Given the description of an element on the screen output the (x, y) to click on. 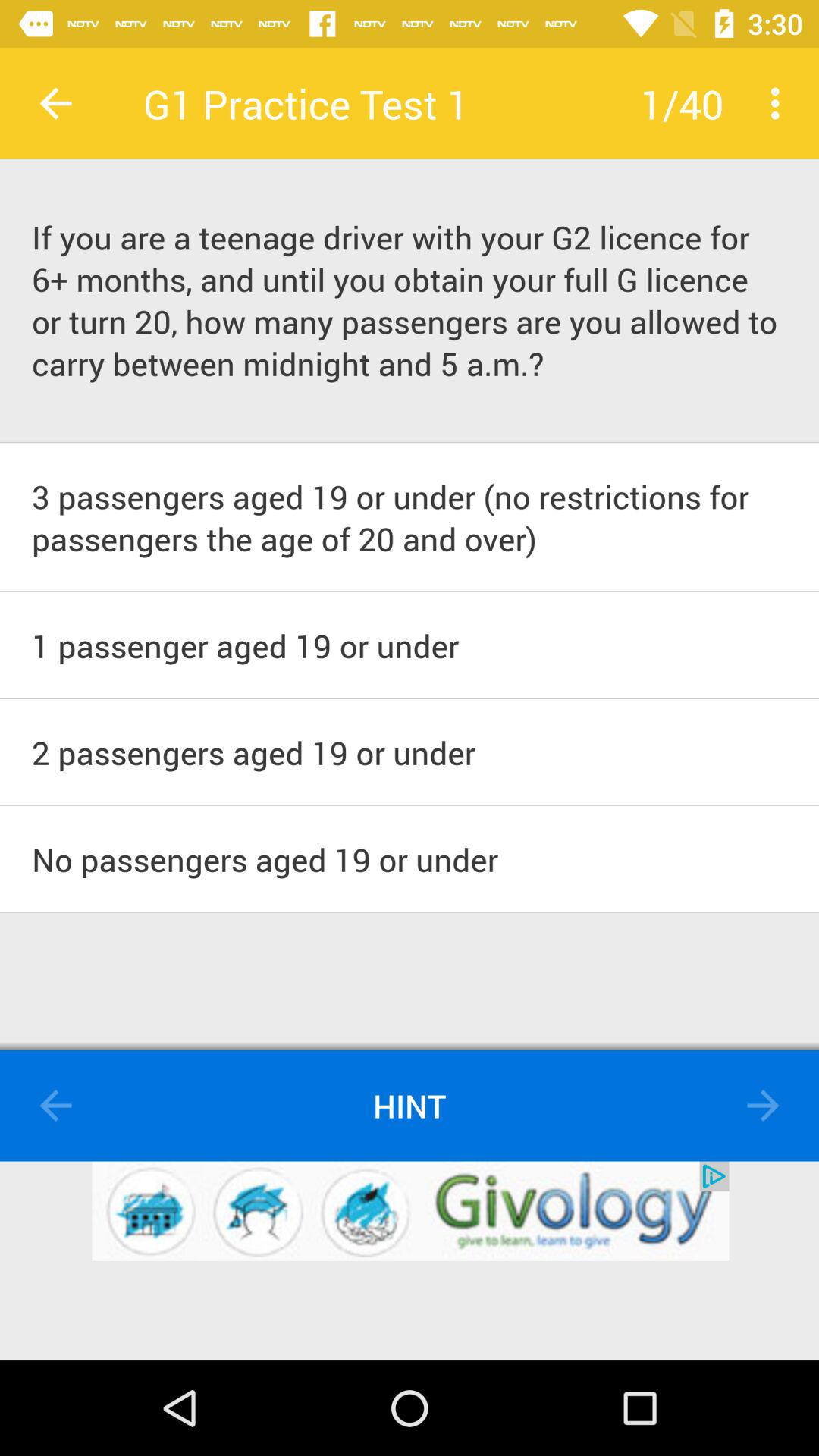
go forward (763, 1105)
